Given the description of an element on the screen output the (x, y) to click on. 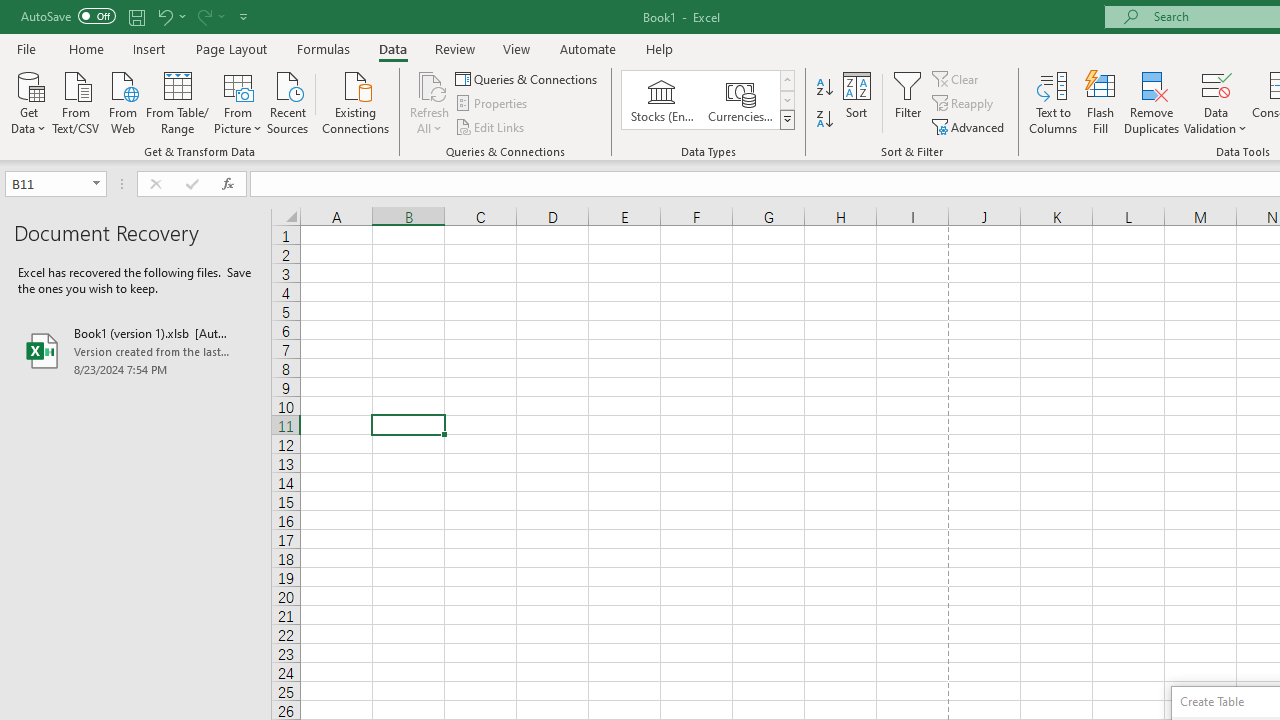
Save (136, 15)
From Text/CSV (75, 101)
Review (454, 48)
Data Validation... (1215, 84)
View (517, 48)
Advanced... (970, 126)
From Web (122, 101)
Class: NetUIImage (787, 119)
Sort A to Z (824, 87)
Refresh All (429, 84)
Filter (908, 102)
Formulas (323, 48)
